Given the description of an element on the screen output the (x, y) to click on. 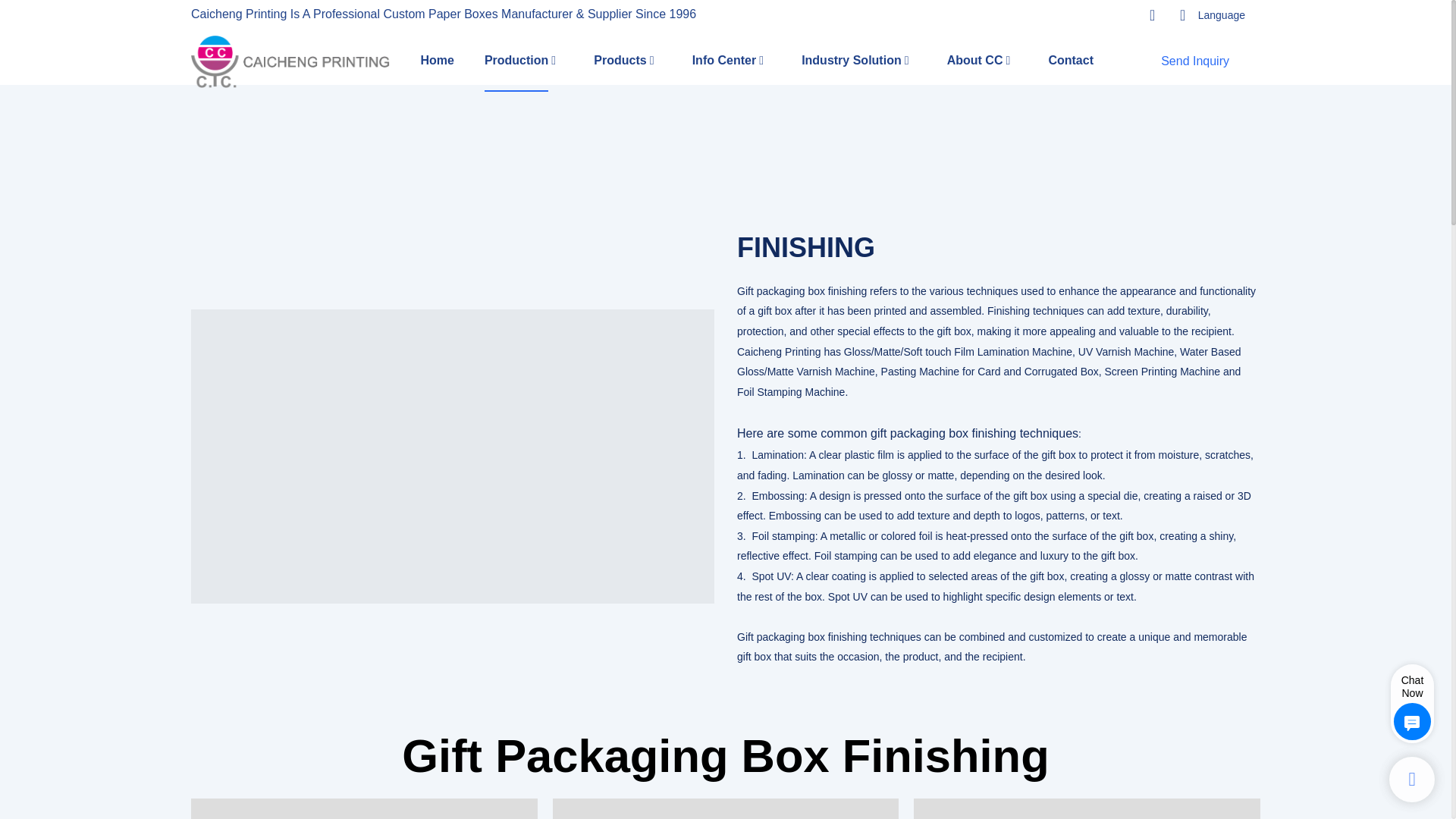
facebook (1053, 15)
instagram (1083, 15)
youtube (1114, 15)
Production (516, 61)
Industry Solution (851, 60)
Info Center (724, 60)
